Given the description of an element on the screen output the (x, y) to click on. 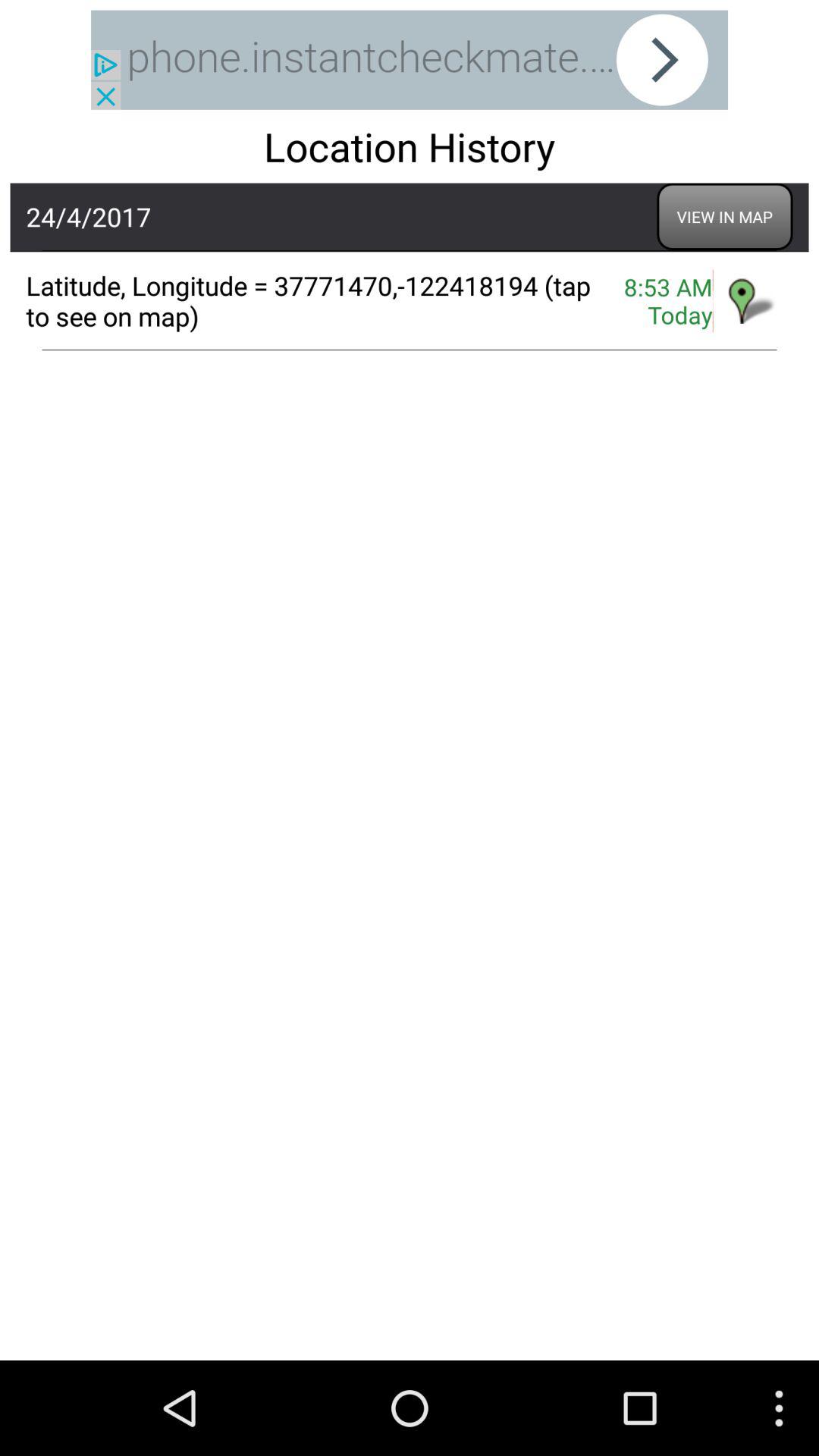
visit advertised site (409, 59)
